Given the description of an element on the screen output the (x, y) to click on. 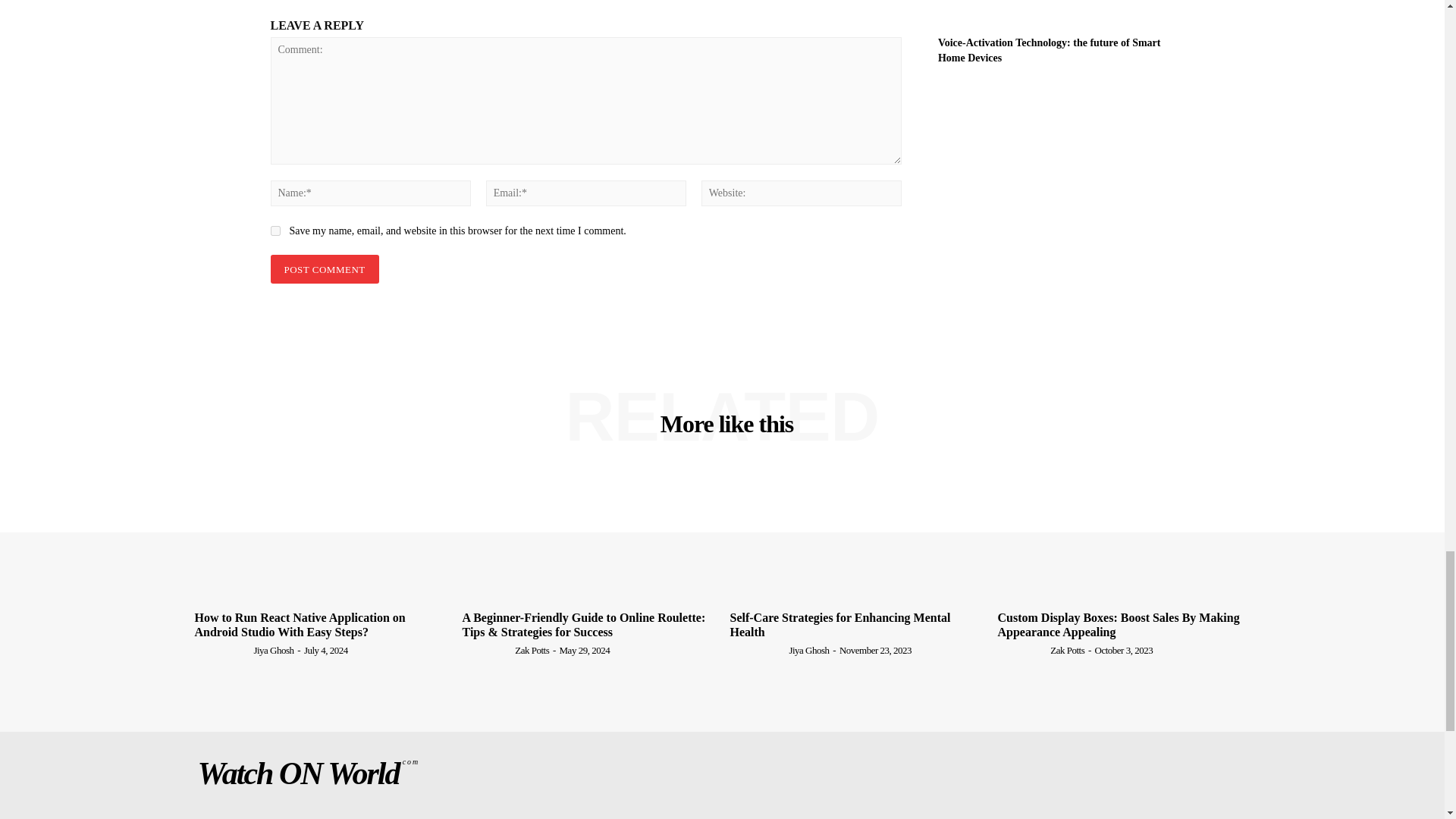
Post Comment (323, 269)
yes (274, 230)
